Given the description of an element on the screen output the (x, y) to click on. 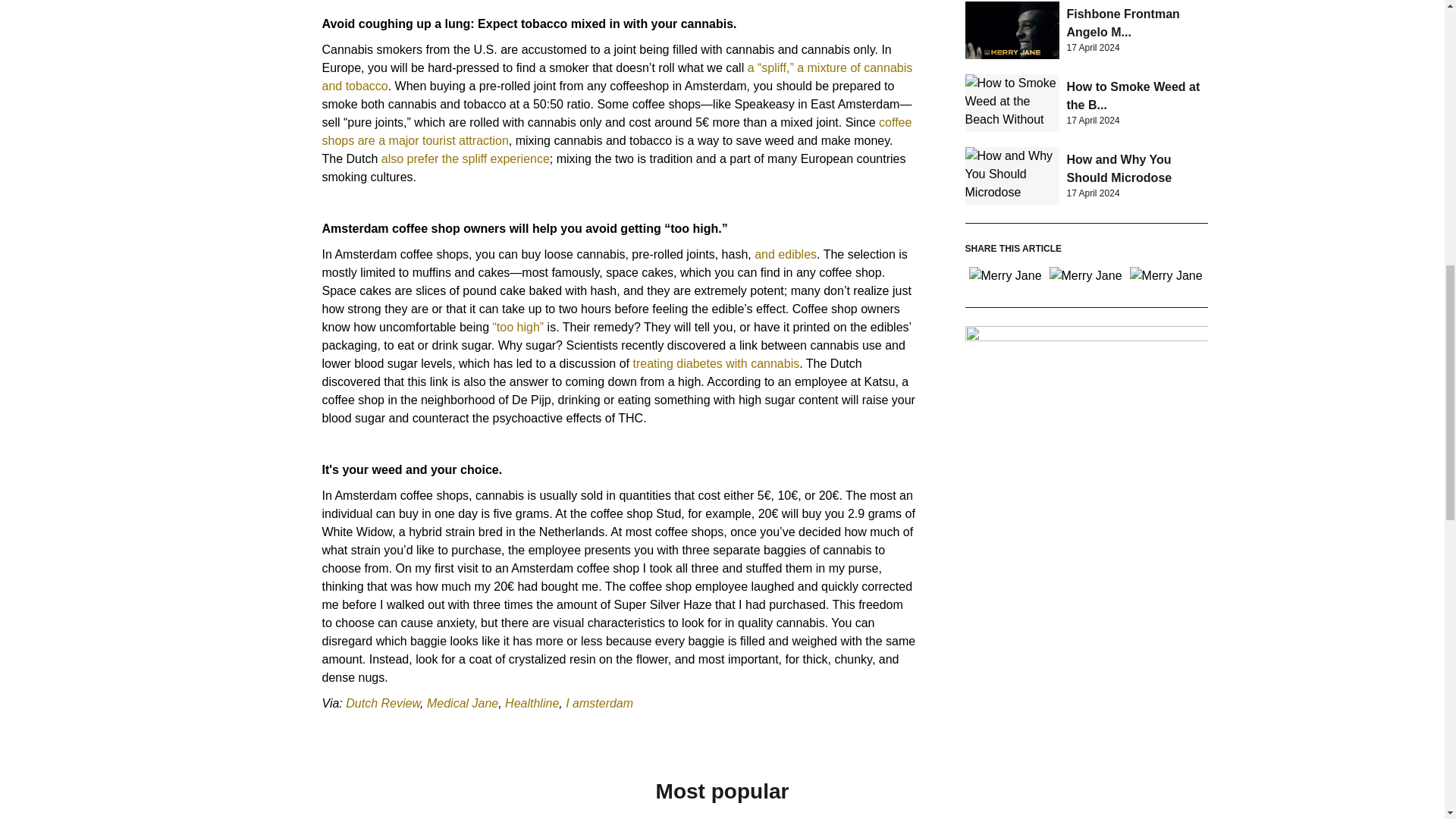
Fishbone Frontman Angelo M... (1122, 22)
Healthline (530, 703)
Dutch Review (381, 703)
How to Smoke Weed at the B... (1132, 95)
coffee shops are a major tourist attraction (616, 131)
and edibles (785, 254)
Medical Jane (460, 703)
treating diabetes with cannabis (715, 363)
also prefer the spliff experience (465, 158)
I amsterdam (597, 703)
